Given the description of an element on the screen output the (x, y) to click on. 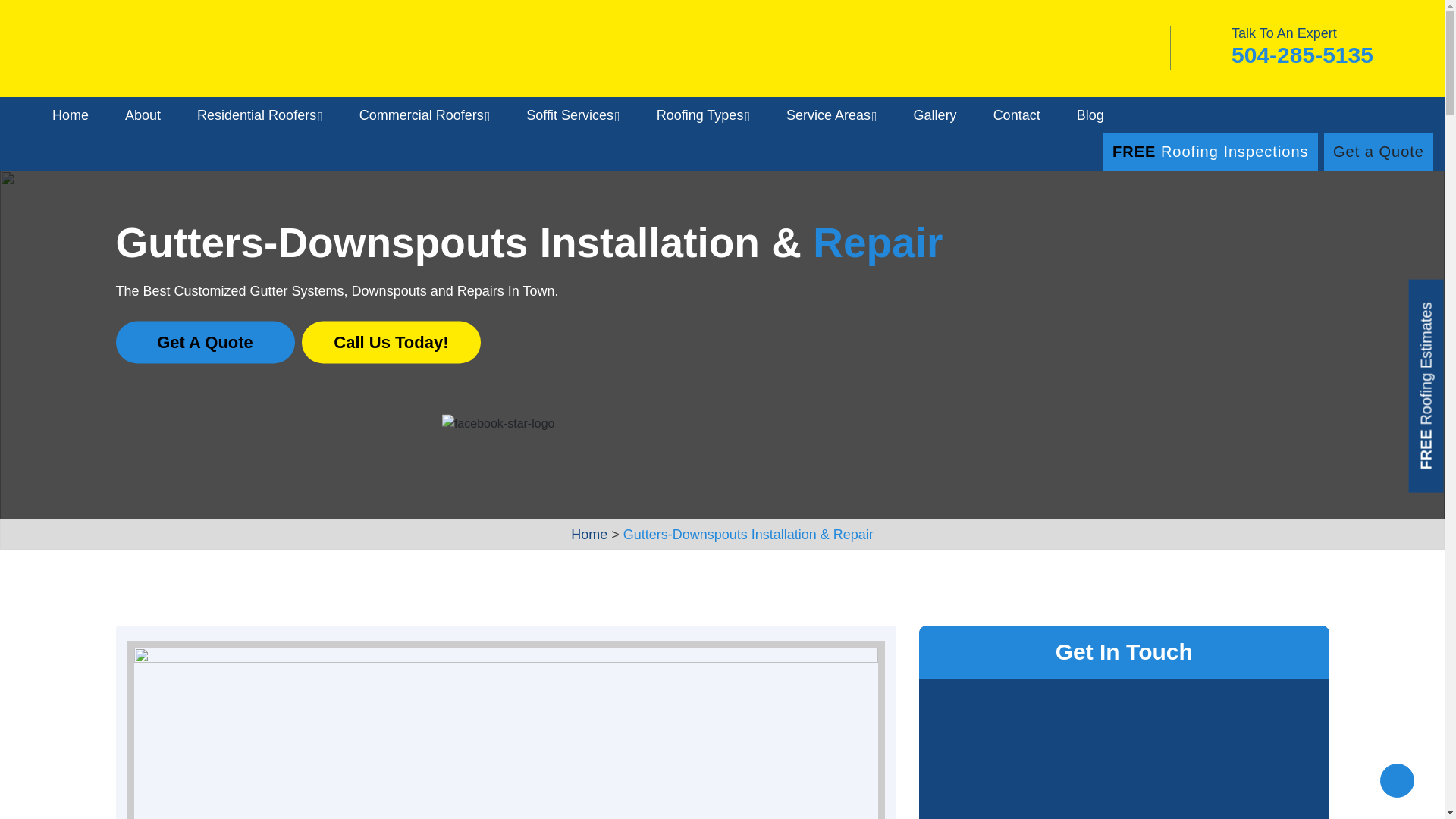
best-price-logo (384, 423)
Soffit Services (572, 115)
504-285-5135 (1302, 54)
Home (70, 115)
Commercial Roofers (424, 115)
logo (117, 48)
handred-logo (152, 423)
facebook-star-logo (498, 423)
google-rating-logo (269, 423)
About (142, 115)
